Given the description of an element on the screen output the (x, y) to click on. 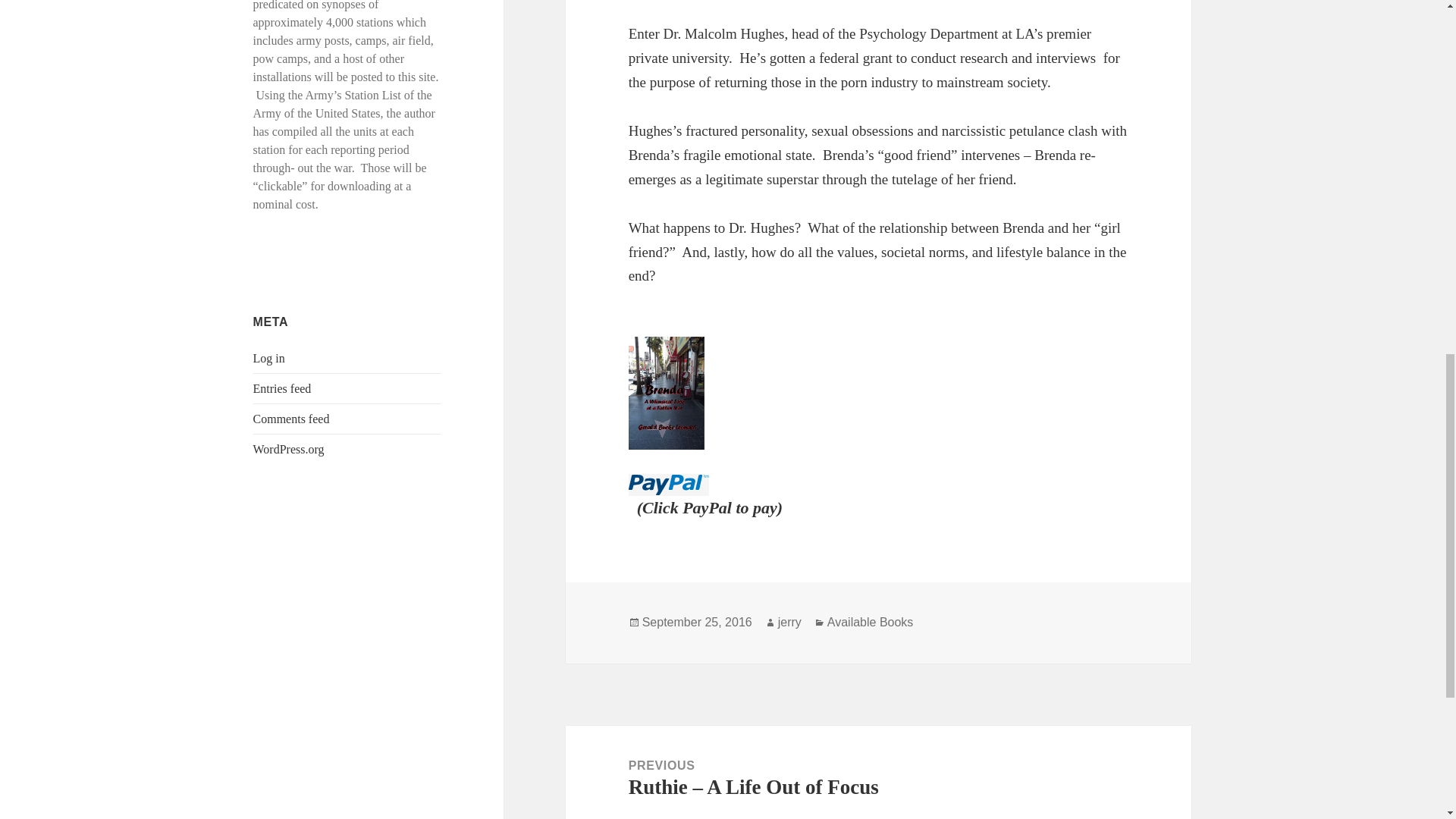
jerry (789, 622)
Entries feed (282, 388)
Available Books (870, 622)
September 25, 2016 (697, 622)
Comments feed (291, 418)
Log in (269, 358)
WordPress.org (288, 449)
